Given the description of an element on the screen output the (x, y) to click on. 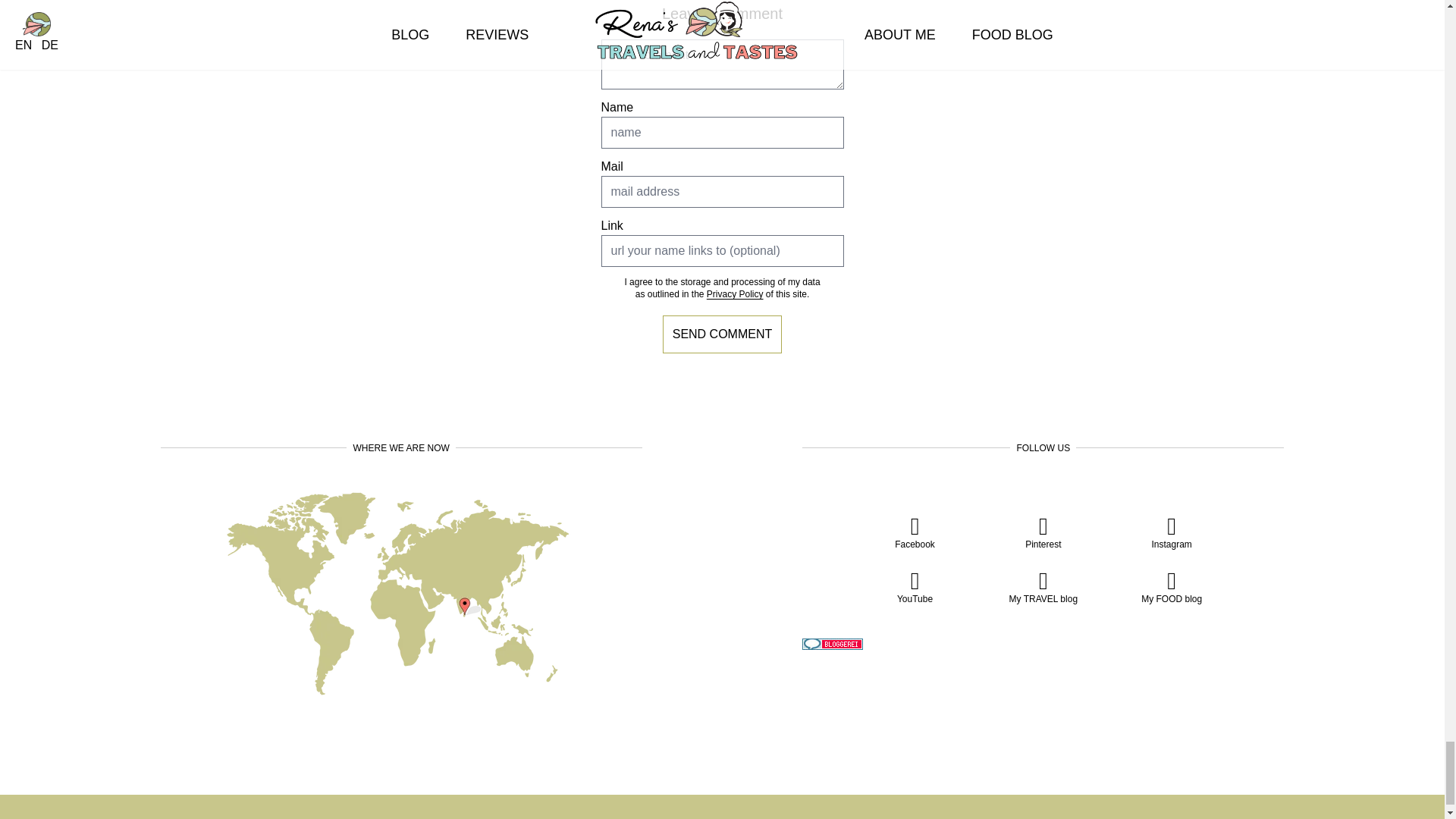
send comment (722, 333)
